Given the description of an element on the screen output the (x, y) to click on. 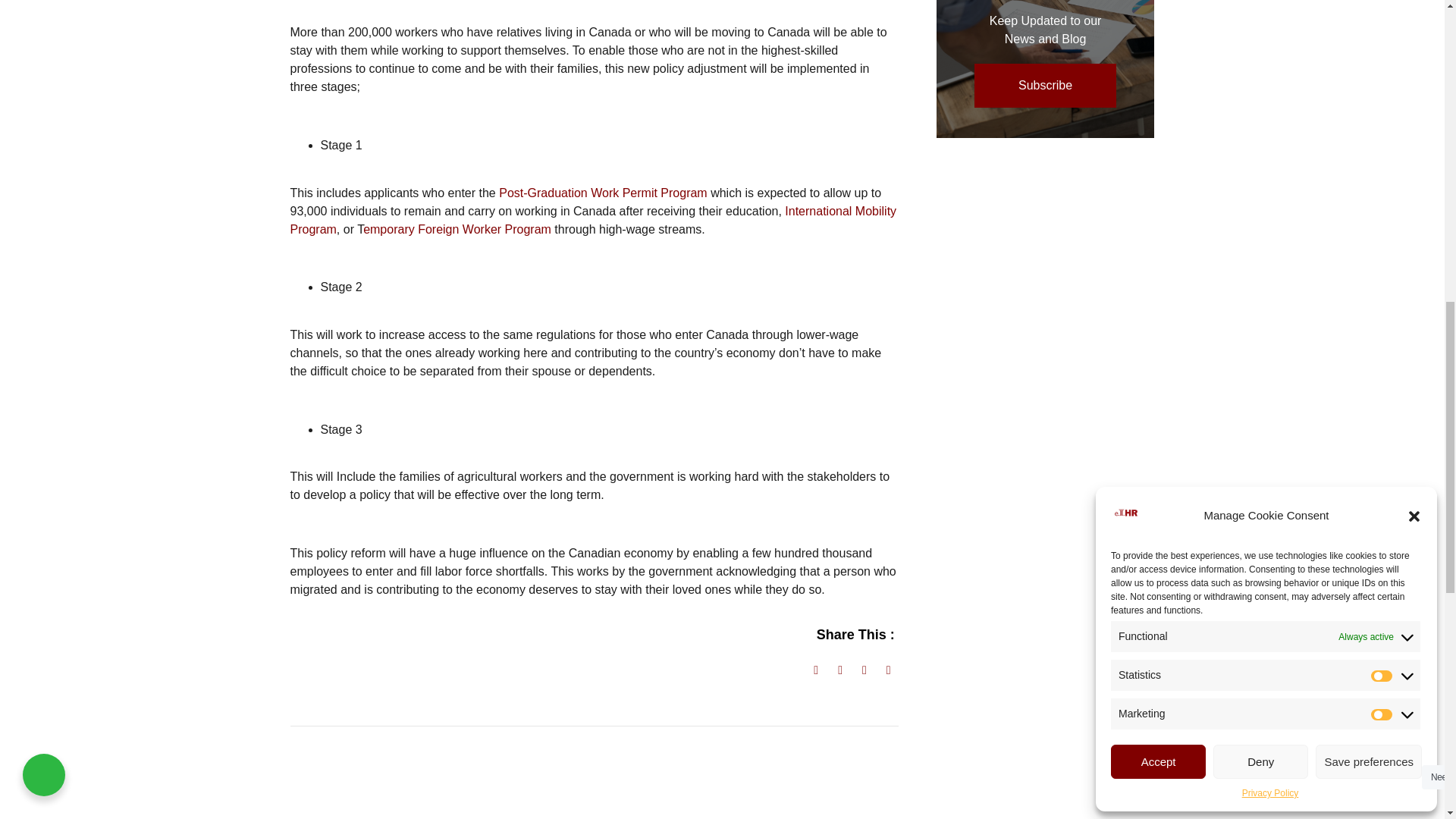
International Mobility Program (592, 219)
Post-Graduation Work Permit Program (602, 192)
emporary Foreign Worker Program (456, 228)
